Given the description of an element on the screen output the (x, y) to click on. 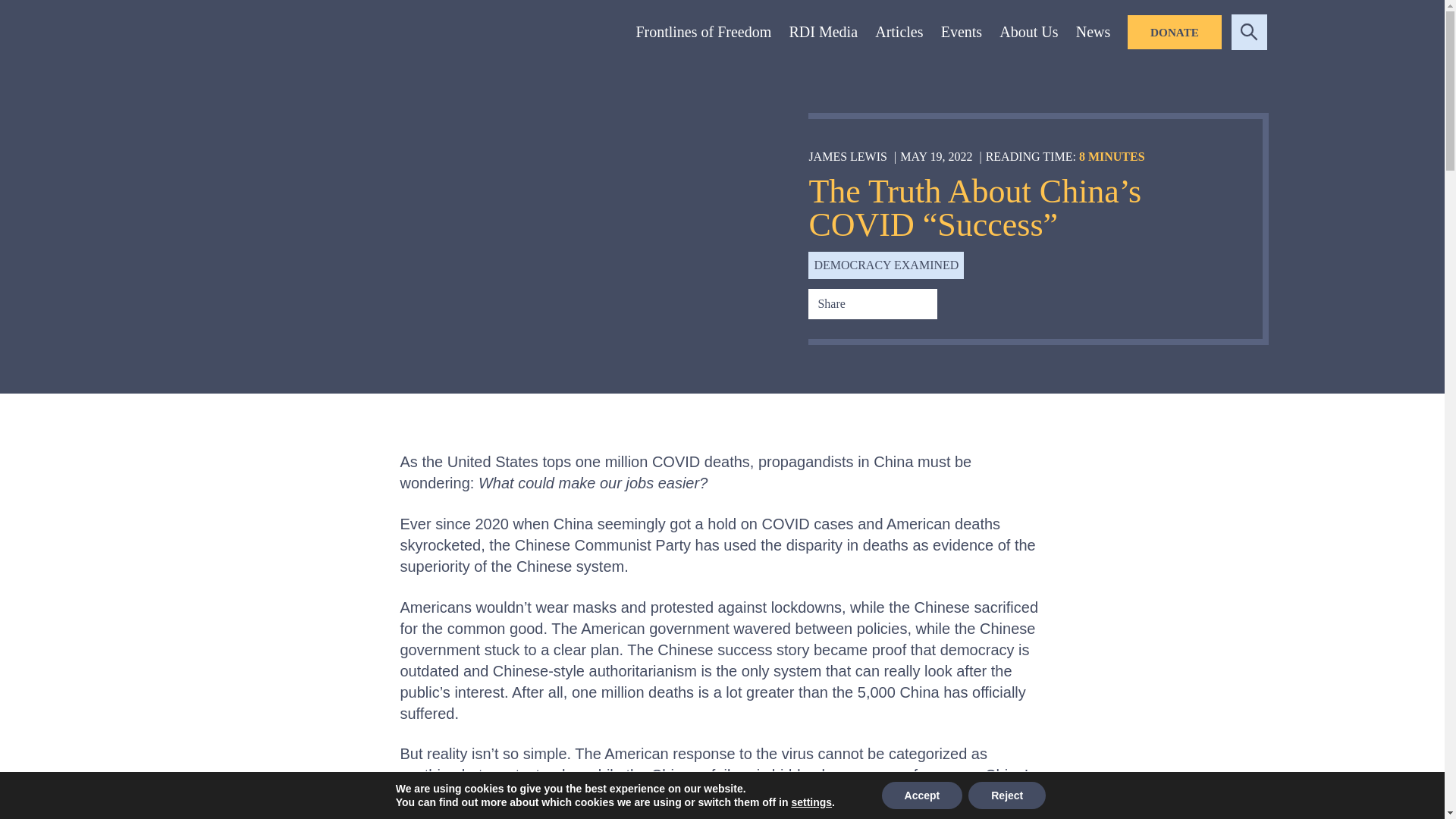
About Us (1028, 34)
RDI Media (822, 34)
Frontlines of Freedom (702, 34)
Articles (898, 34)
Events (961, 34)
News (1093, 34)
DONATE (1173, 32)
